Given the description of an element on the screen output the (x, y) to click on. 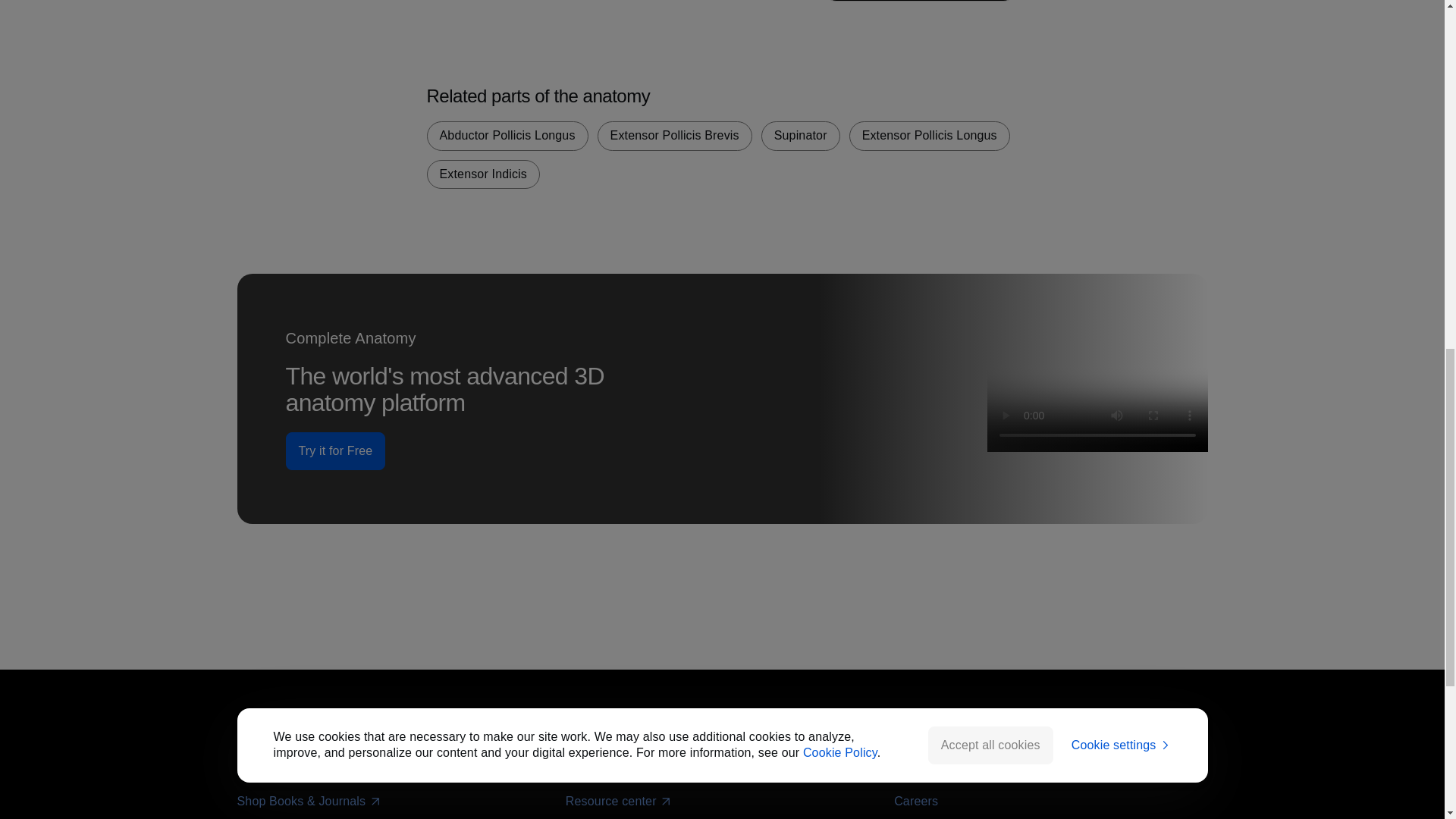
Extensor Indicis (483, 174)
Abductor Pollicis Longus (507, 135)
Try it for Free (335, 451)
Submit your paper (286, 769)
Extensor Pollicis Brevis (674, 135)
Supinator (800, 135)
Extensor Pollicis Longus (929, 135)
